Given the description of an element on the screen output the (x, y) to click on. 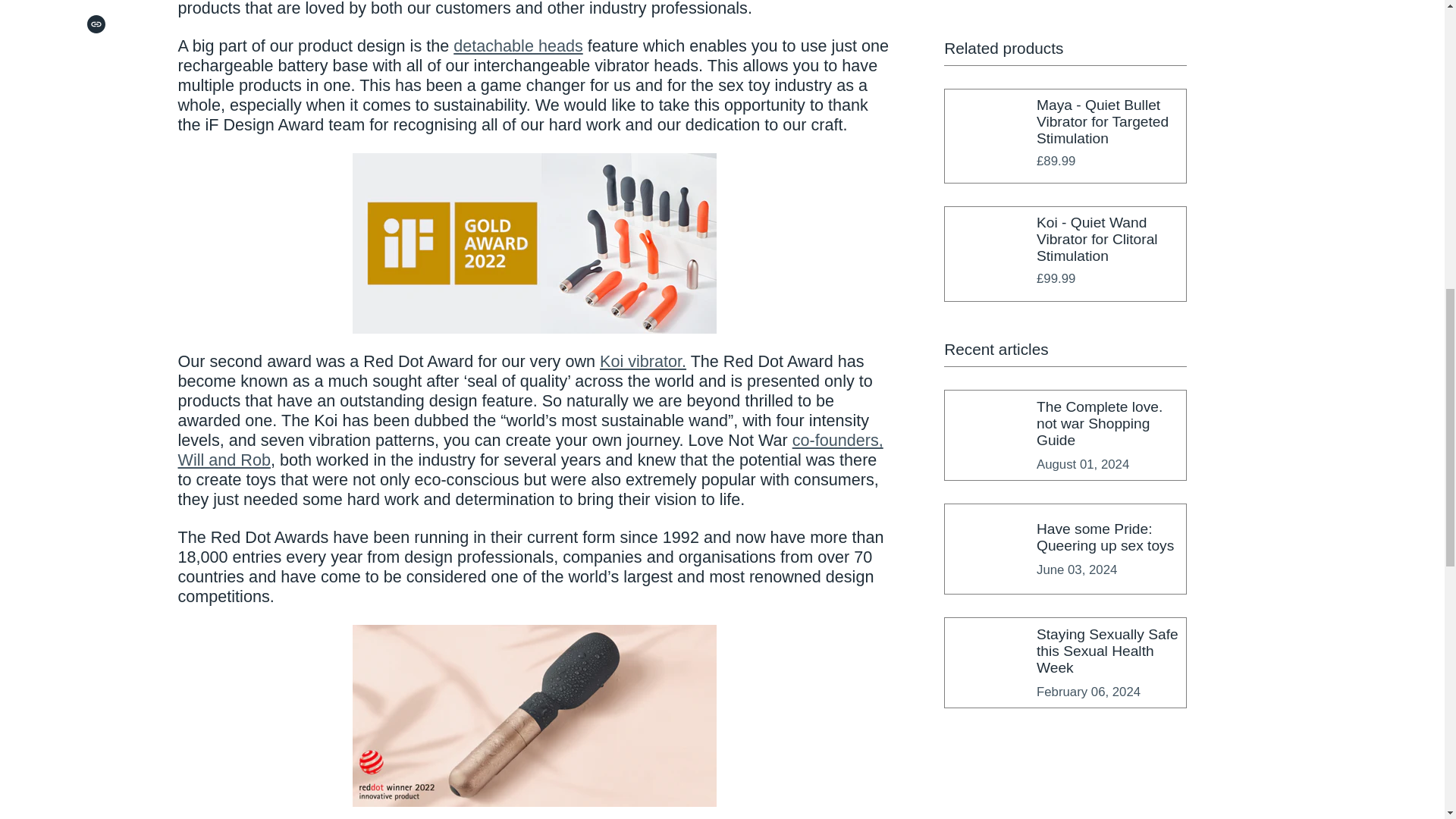
Koi Quiet Wand Vibrator (642, 361)
About us page love not war (529, 449)
Love not war vibrator head page (517, 45)
